Given the description of an element on the screen output the (x, y) to click on. 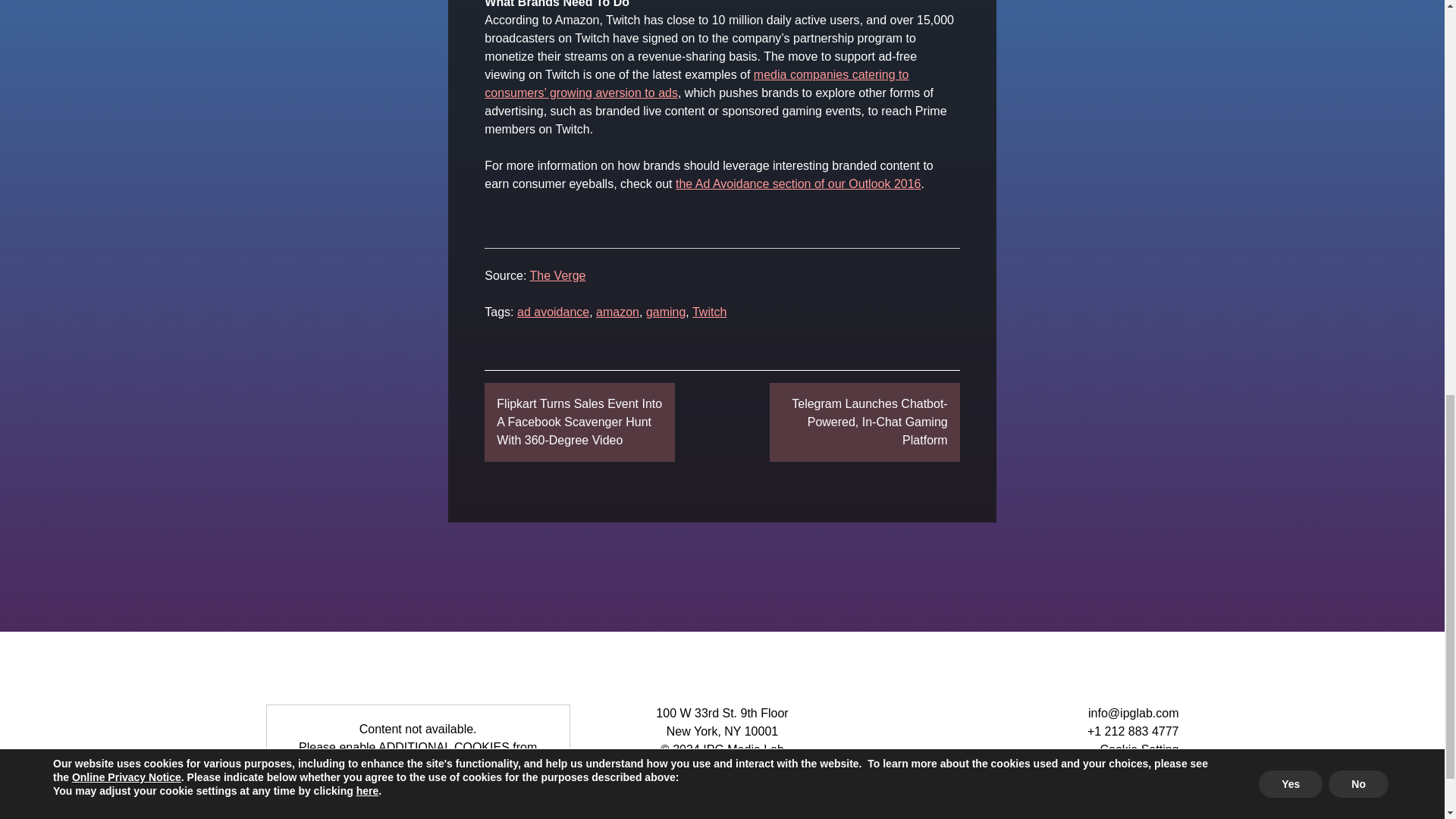
Instagram (1126, 807)
The Verge (557, 275)
Medium (1017, 807)
Twitch (709, 311)
the Ad Avoidance section of our Outlook 2016 (798, 183)
amazon (617, 311)
Telegram Launches Chatbot-Powered, In-Chat Gaming Platform (864, 422)
gaming (665, 311)
Facebook (1053, 807)
ad avoidance (552, 311)
CA Privacy Notice (1129, 767)
LinkedIn (1162, 807)
Cookie Setting (1138, 748)
Twitter (1090, 807)
